Given the description of an element on the screen output the (x, y) to click on. 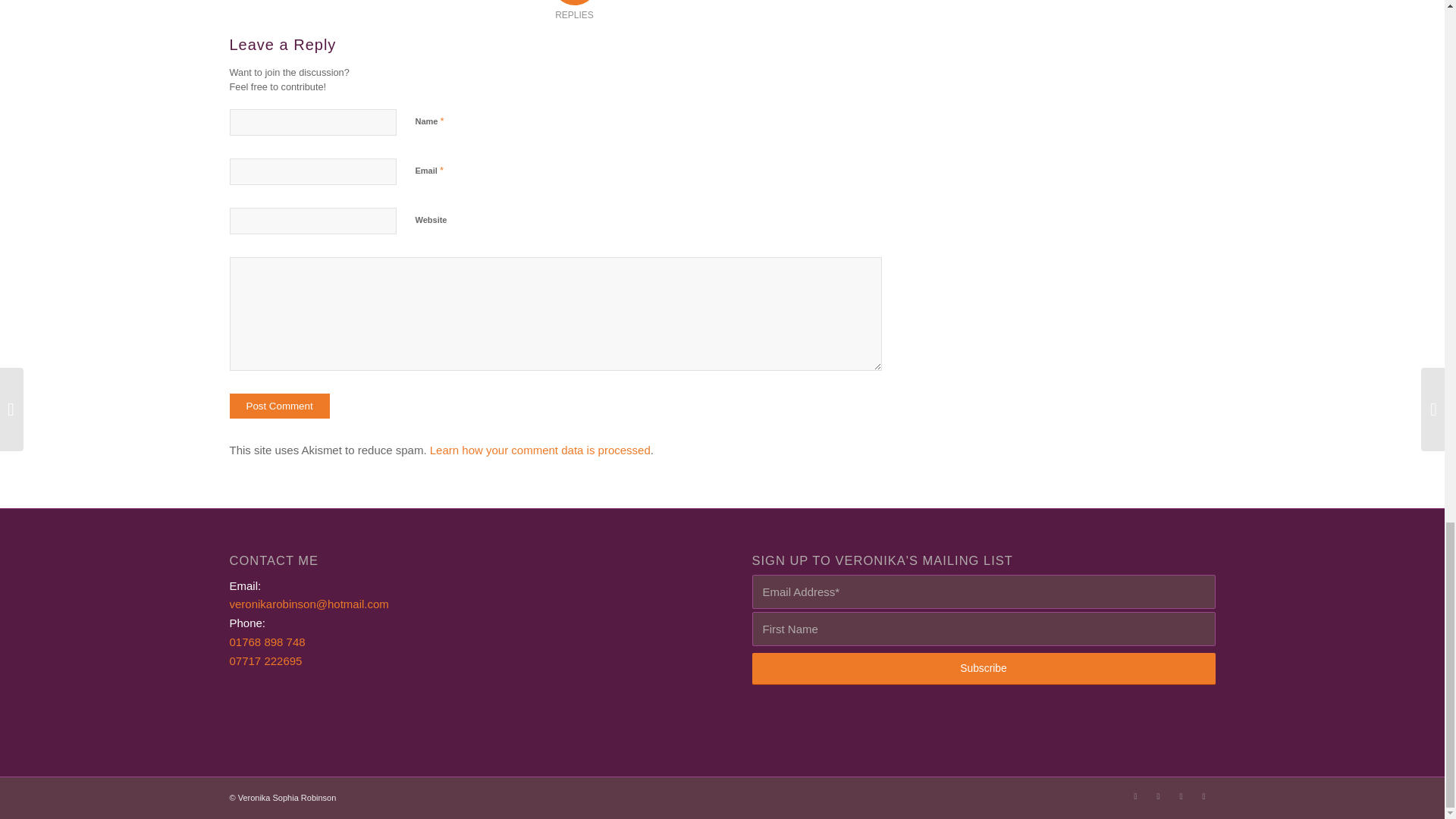
Subscribe (983, 668)
Post Comment (278, 405)
